Given the description of an element on the screen output the (x, y) to click on. 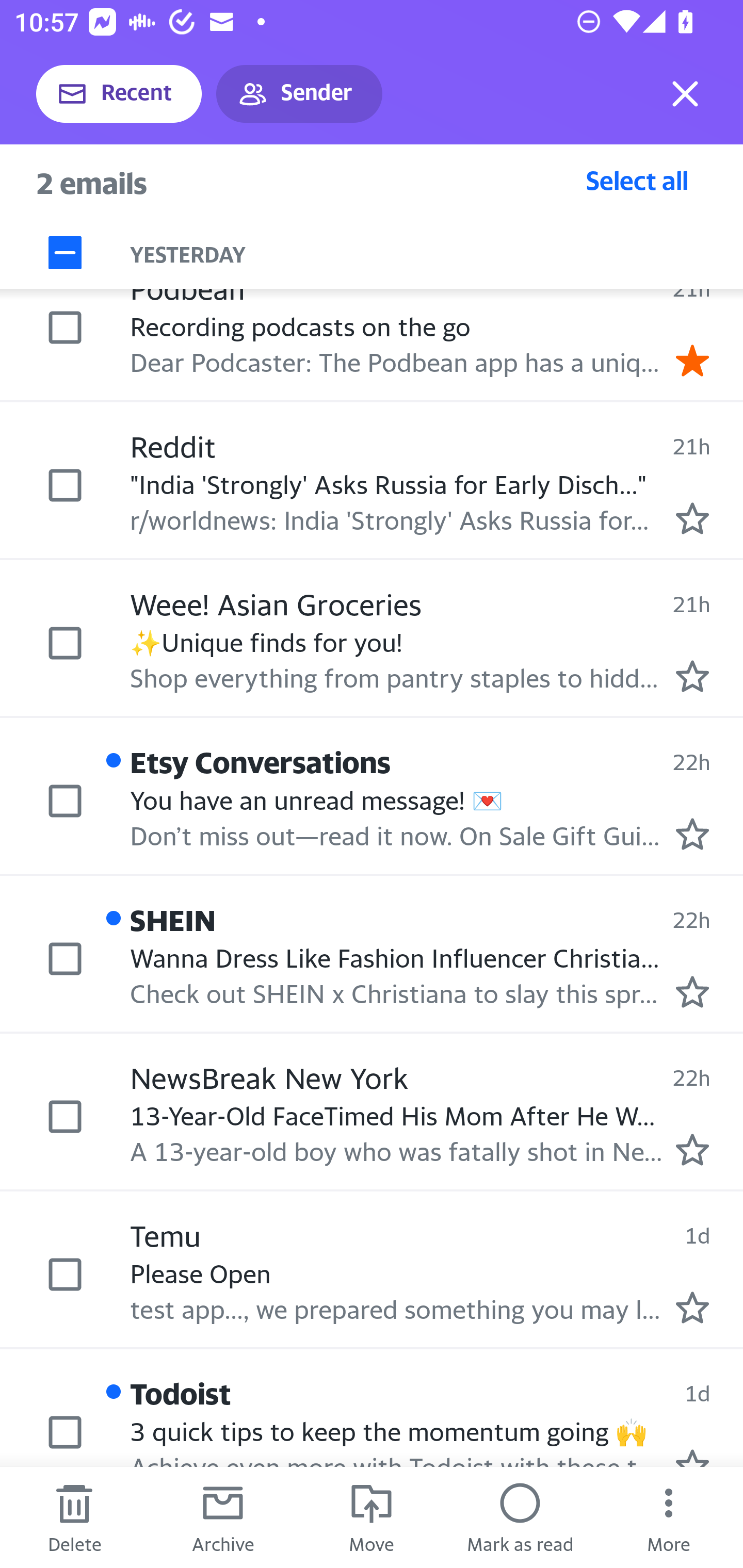
Sender (299, 93)
Exit selection mode (684, 93)
Select all (637, 180)
Remove star. (692, 359)
Mark as starred. (692, 518)
Mark as starred. (692, 676)
Mark as starred. (692, 833)
Mark as starred. (692, 991)
Mark as starred. (692, 1150)
Mark as starred. (692, 1306)
Delete (74, 1517)
Archive (222, 1517)
Move (371, 1517)
Mark as read (519, 1517)
More (668, 1517)
